Given the description of an element on the screen output the (x, y) to click on. 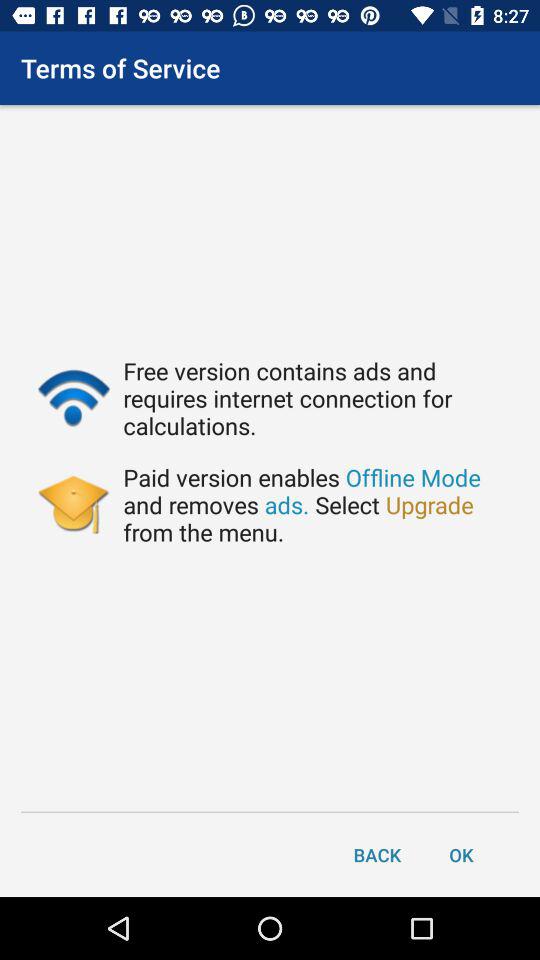
scroll until the ok item (461, 854)
